Given the description of an element on the screen output the (x, y) to click on. 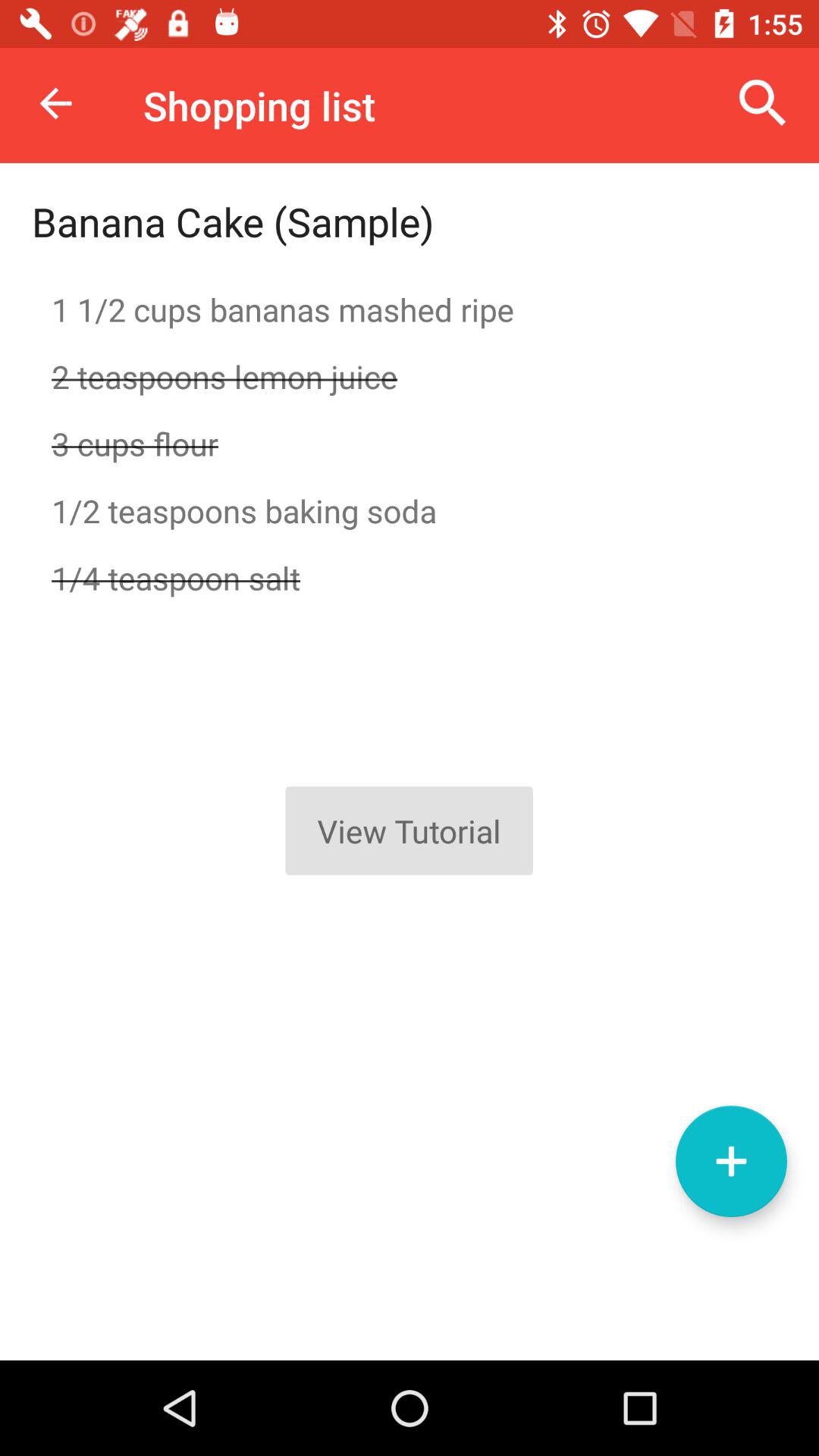
turn off item below the 2 teaspoons lemon icon (409, 443)
